Given the description of an element on the screen output the (x, y) to click on. 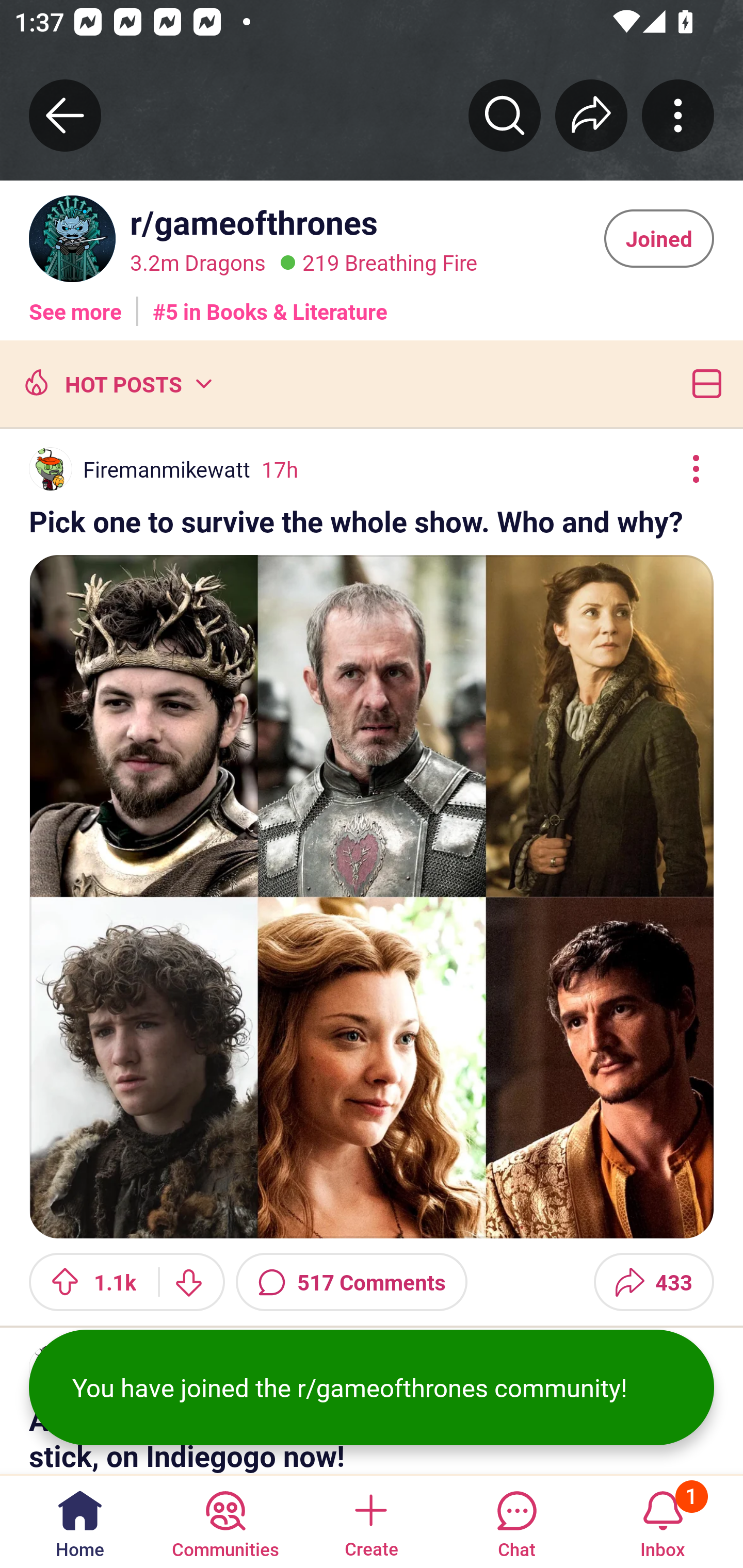
Back (64, 115)
Search r/﻿gameofthrones (504, 115)
Share r/﻿gameofthrones (591, 115)
More community actions (677, 115)
See more (74, 304)
#5 in Books & Literature (270, 304)
Hot posts HOT POSTS (116, 383)
Card (703, 383)
Home (80, 1520)
Communities (225, 1520)
Create a post Create (370, 1520)
Chat (516, 1520)
Inbox, has 1 notification 1 Inbox (662, 1520)
